Given the description of an element on the screen output the (x, y) to click on. 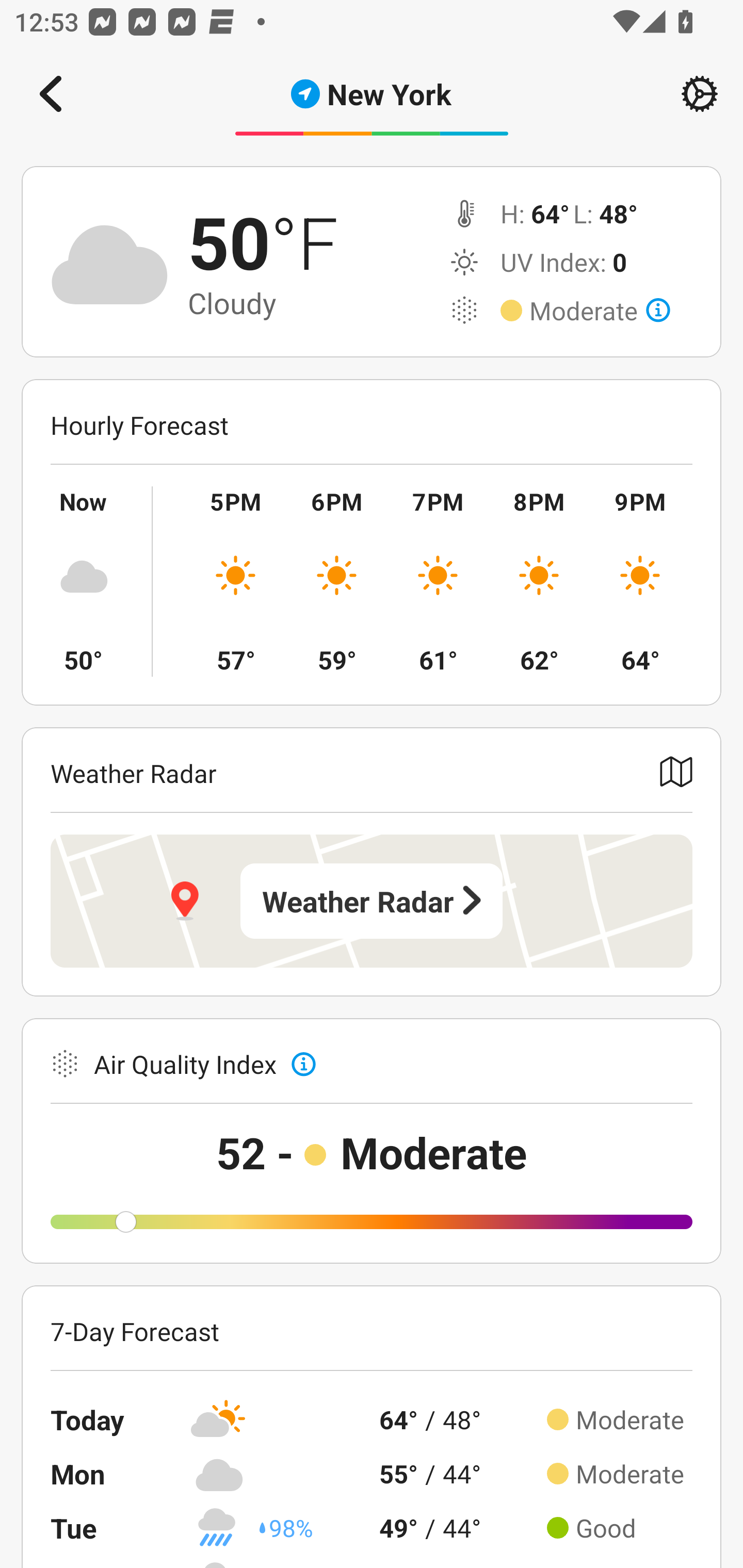
Navigate up (50, 93)
Setting (699, 93)
Moderate (599, 310)
Weather Radar (371, 900)
